Given the description of an element on the screen output the (x, y) to click on. 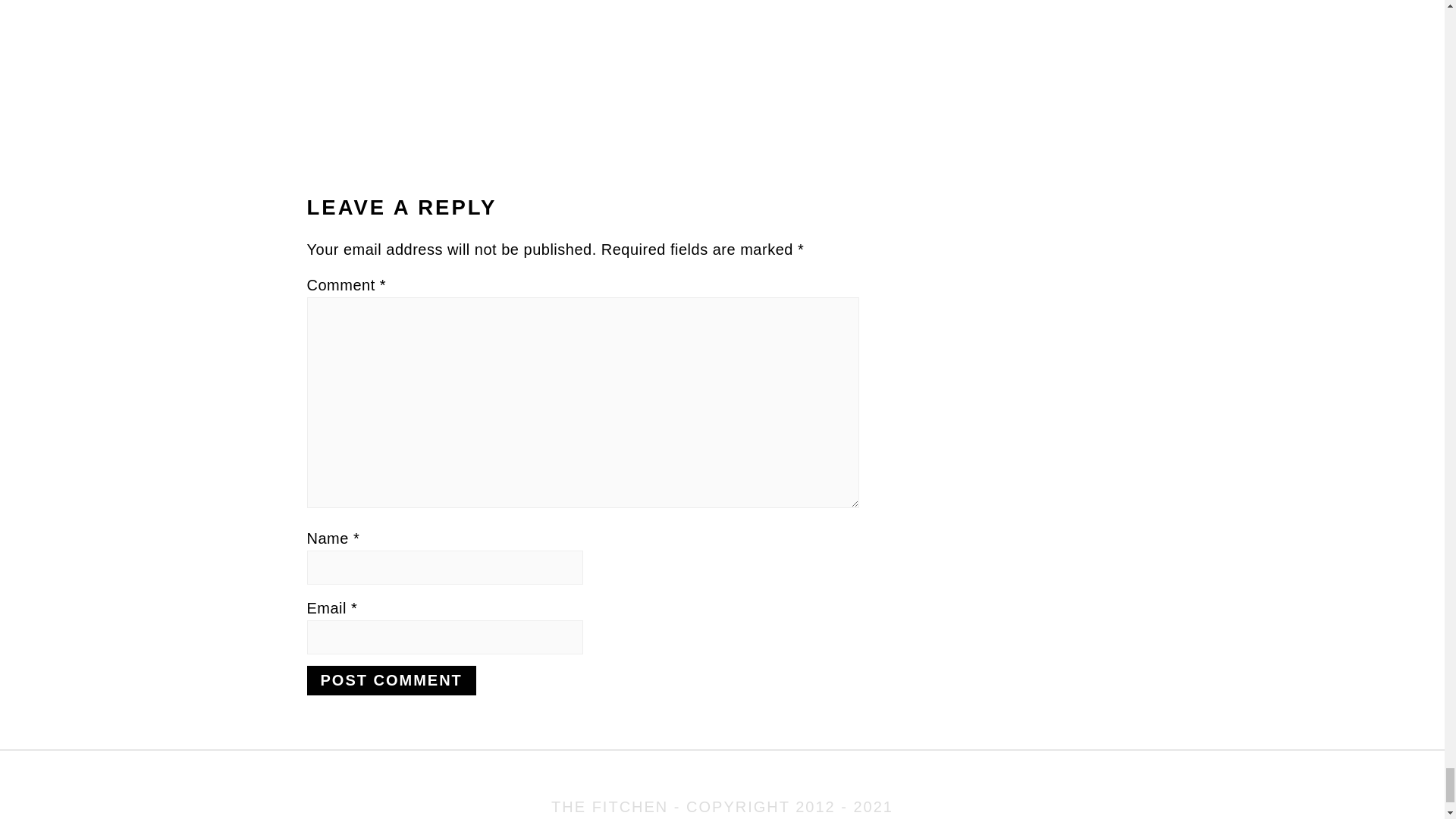
Post Comment (390, 680)
